Given the description of an element on the screen output the (x, y) to click on. 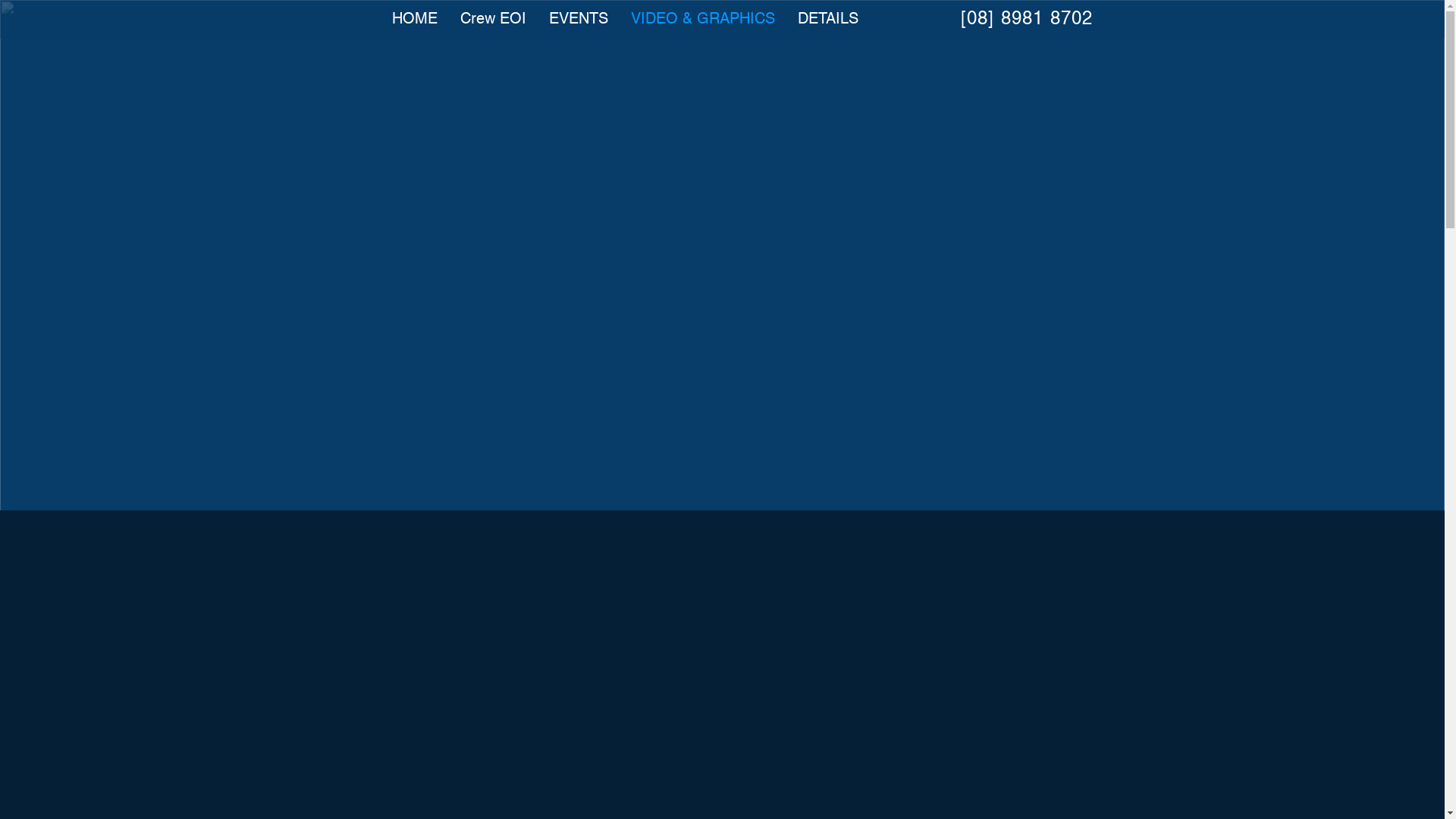
HOME Element type: text (414, 18)
EVENTS Element type: text (578, 18)
VIDEO & GRAPHICS Element type: text (702, 18)
Crew EOI Element type: text (492, 18)
 [08] 8981 8702 Element type: text (1022, 17)
DETAILS Element type: text (827, 18)
